Given the description of an element on the screen output the (x, y) to click on. 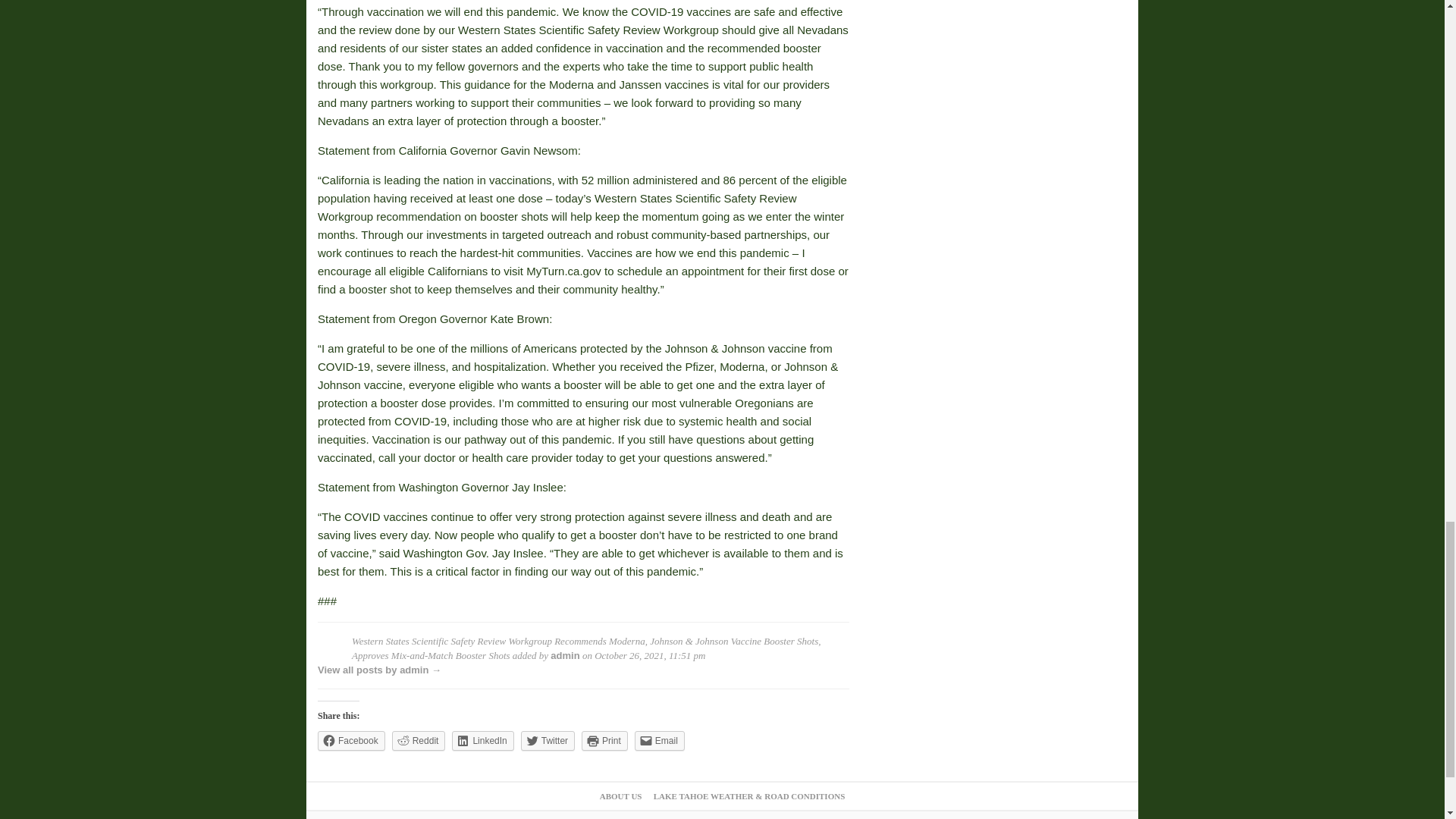
Click to share on Twitter (548, 741)
Click to share on Facebook (351, 741)
Click to email a link to a friend (659, 741)
Click to print (603, 741)
Click to share on LinkedIn (482, 741)
Click to share on Reddit (418, 741)
